Given the description of an element on the screen output the (x, y) to click on. 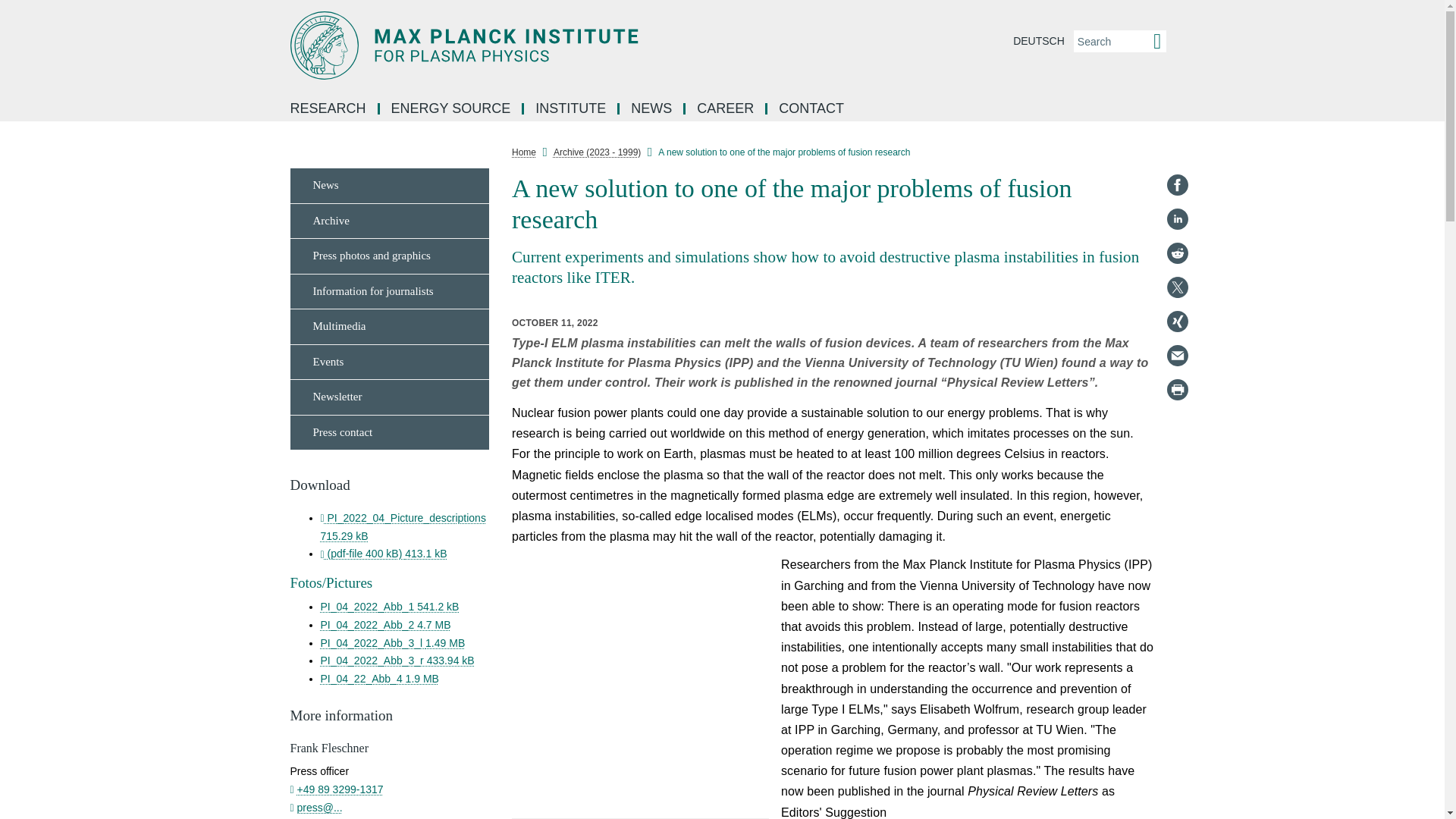
Facebook (1177, 184)
DEUTSCH (1038, 41)
Print (1177, 389)
ENERGY SOURCE (452, 108)
Xing (1177, 321)
Twitter (1177, 287)
E-Mail (1177, 354)
LinkedIn (1177, 219)
Reddit (1177, 252)
opens zoom view (640, 685)
